Given the description of an element on the screen output the (x, y) to click on. 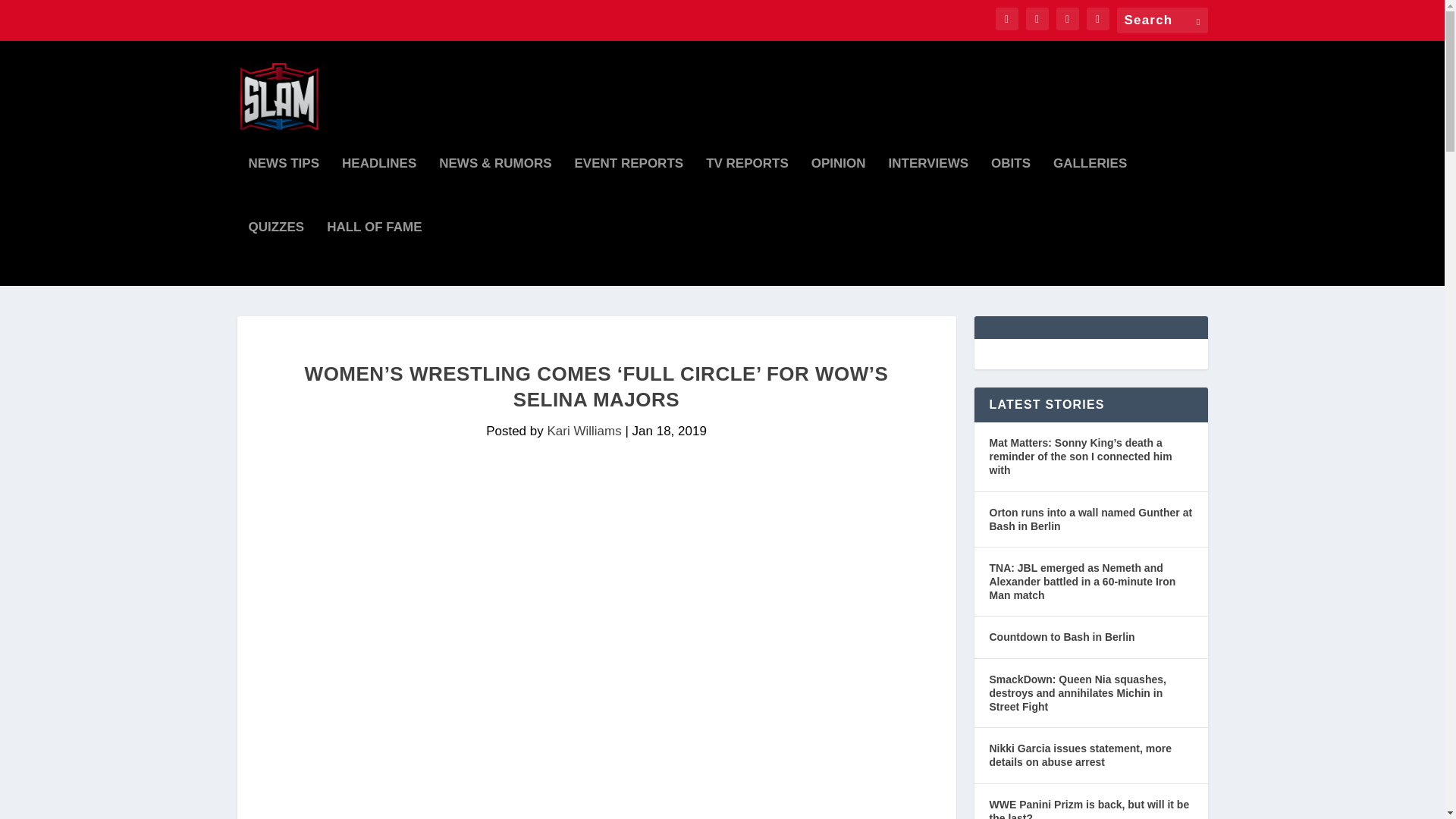
Countdown to Bash in Berlin (1061, 637)
HALL OF FAME (374, 253)
INTERVIEWS (928, 189)
HEADLINES (379, 189)
NEWS TIPS (284, 189)
Orton runs into a wall named Gunther at Bash in Berlin (1090, 519)
TV REPORTS (747, 189)
EVENT REPORTS (629, 189)
Posts by Kari Williams (584, 431)
